Given the description of an element on the screen output the (x, y) to click on. 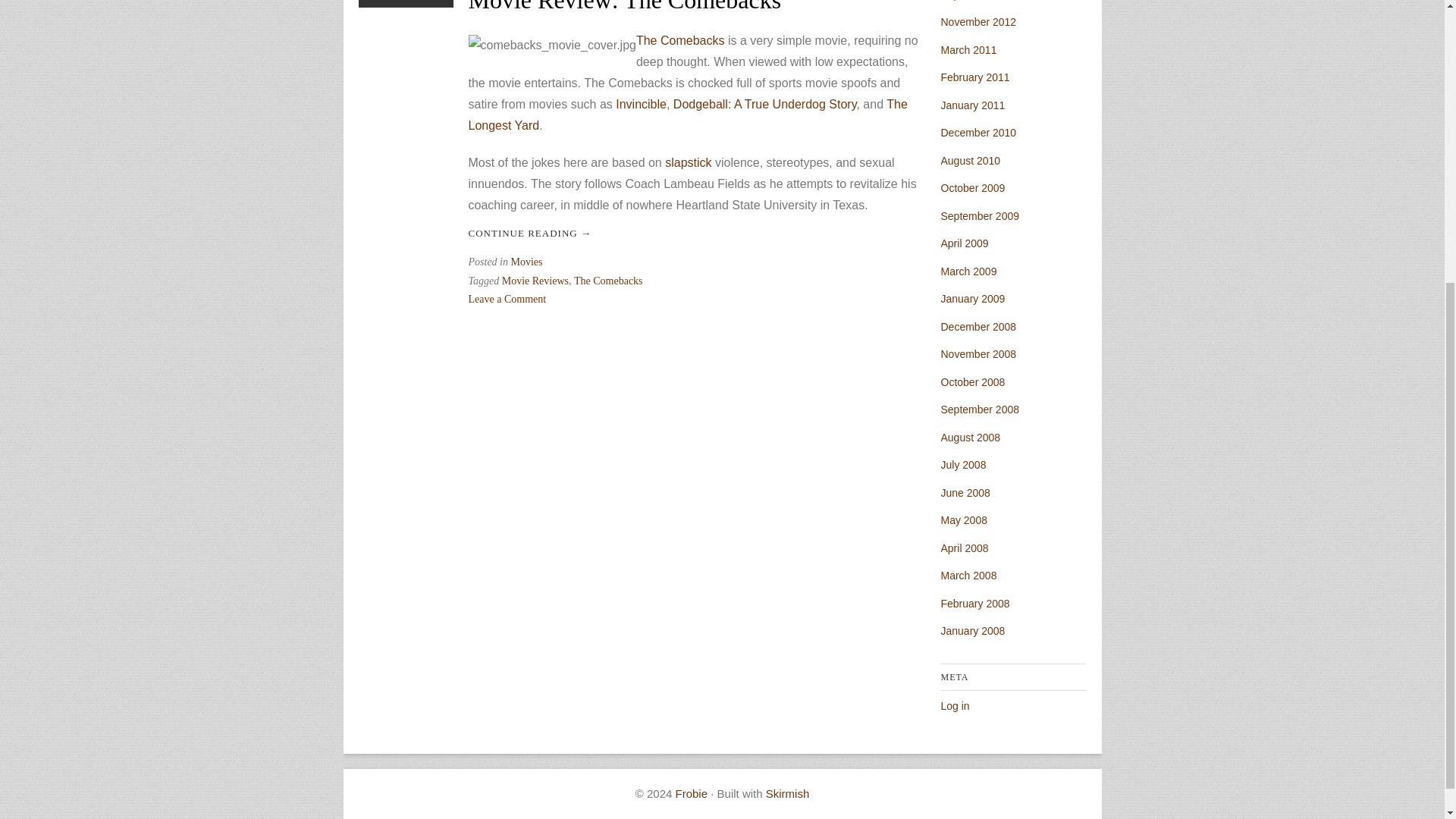
August 2010 (970, 160)
The Comebacks (680, 40)
April 2009 (964, 243)
June 2008 (965, 492)
Movie Review: The Comebacks (624, 6)
January 2009 (972, 298)
August 2008 (970, 437)
January 2011 (972, 105)
February 2011 (507, 298)
March 2011 (974, 77)
April 2008 (967, 50)
November 2012 (964, 548)
Movie Reviews (978, 21)
December 2010 (535, 280)
